Given the description of an element on the screen output the (x, y) to click on. 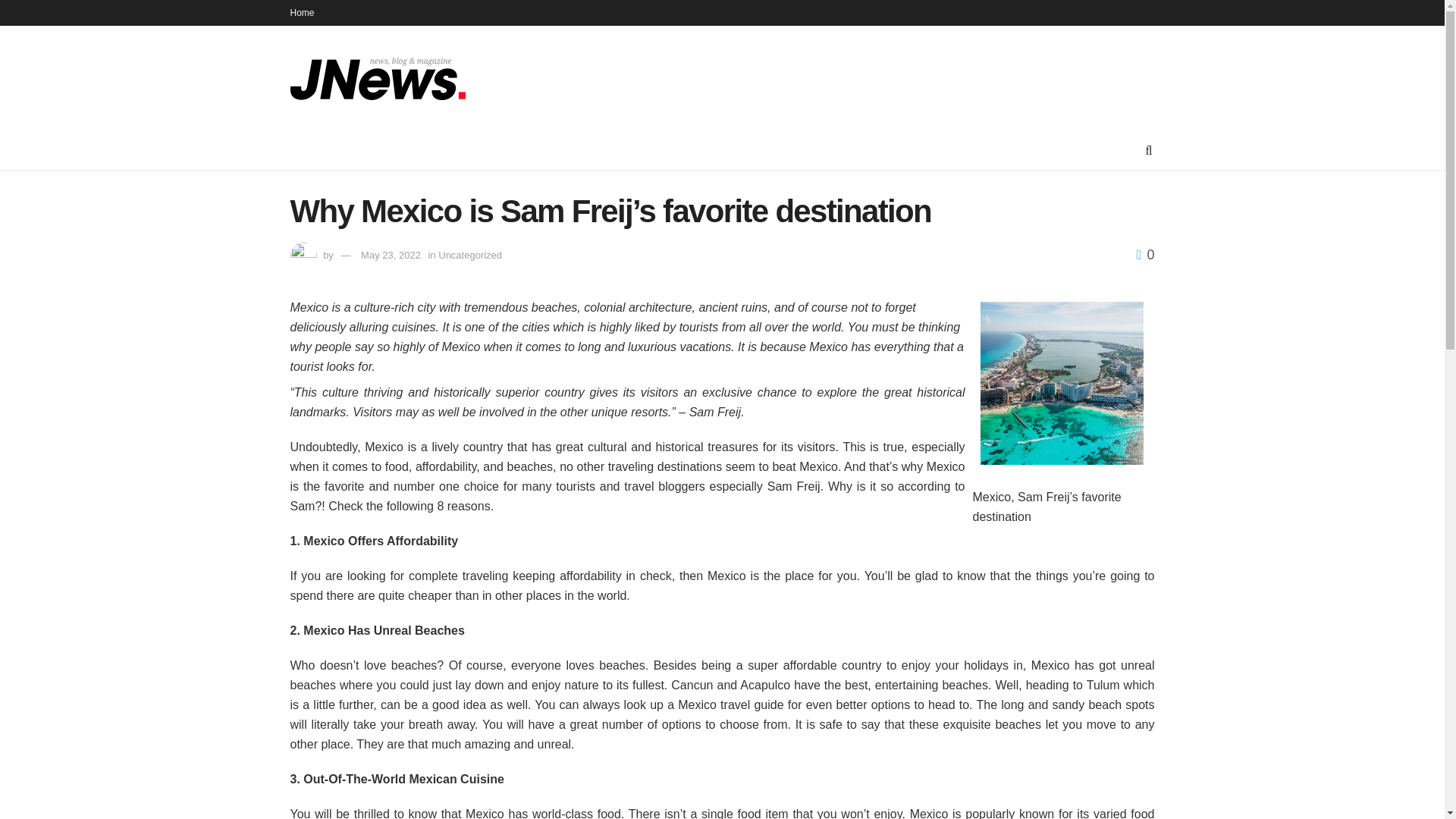
Home (301, 12)
0 (1145, 254)
May 23, 2022 (390, 255)
